Given the description of an element on the screen output the (x, y) to click on. 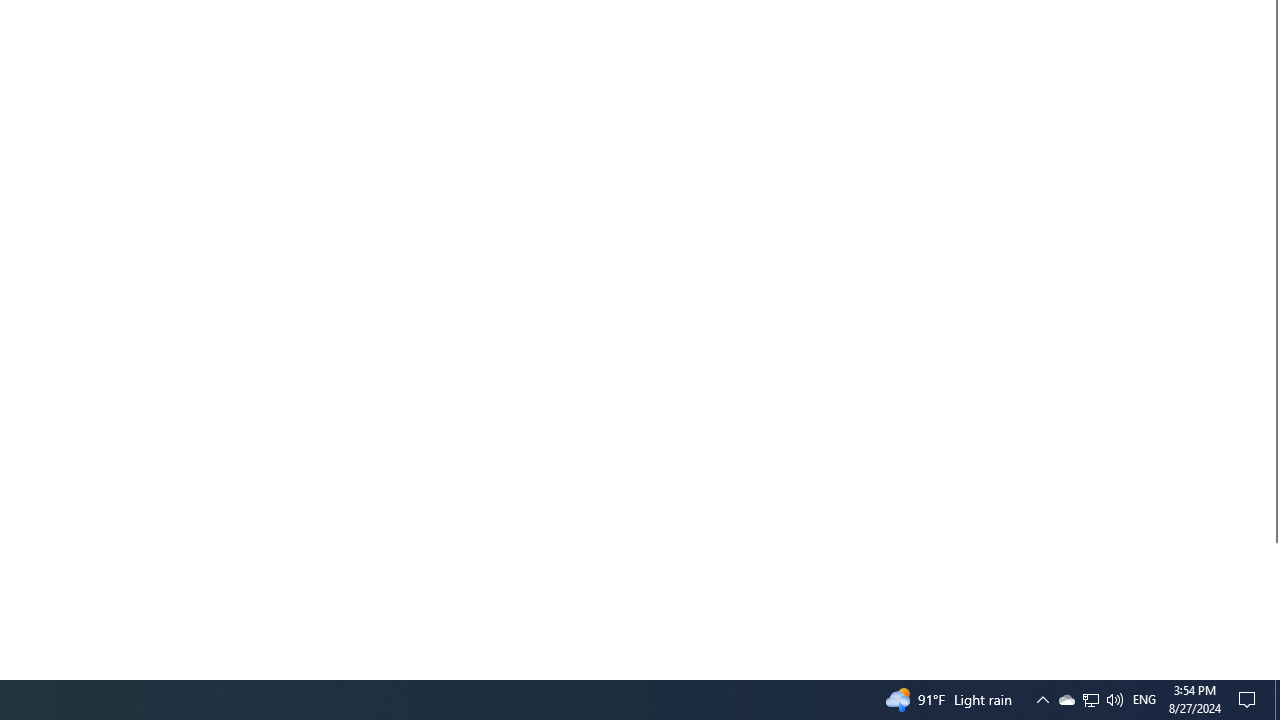
Show desktop (1277, 699)
Action Center, No new notifications (1250, 699)
User Promoted Notification Area (1090, 699)
Tray Input Indicator - English (United States) (1091, 699)
Vertical Large Increase (1144, 699)
Q2790: 100% (1066, 699)
Vertical Small Increase (1272, 602)
Notification Chevron (1114, 699)
